Given the description of an element on the screen output the (x, y) to click on. 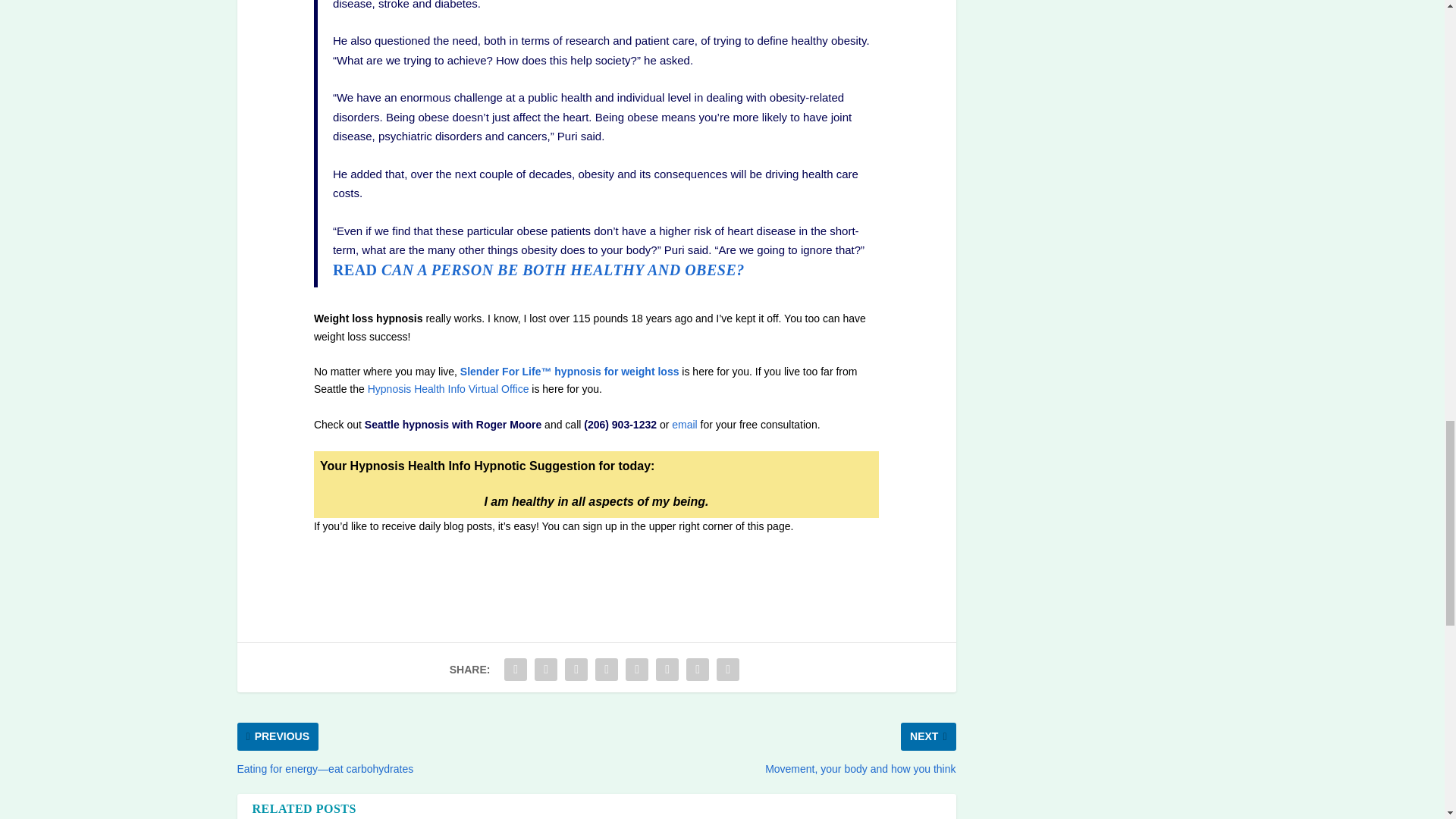
Share "The myth of healthy obesity" via LinkedIn (667, 669)
Hypnosis Health Info Virtual Office (450, 388)
Share "The myth of healthy obesity" via Facebook (515, 669)
Can a person be both healthy and obese? (538, 269)
Share "The myth of healthy obesity" via Twitter (545, 669)
Share "The myth of healthy obesity" via Tumblr (606, 669)
Share "The myth of healthy obesity" via Pinterest (636, 669)
